Given the description of an element on the screen output the (x, y) to click on. 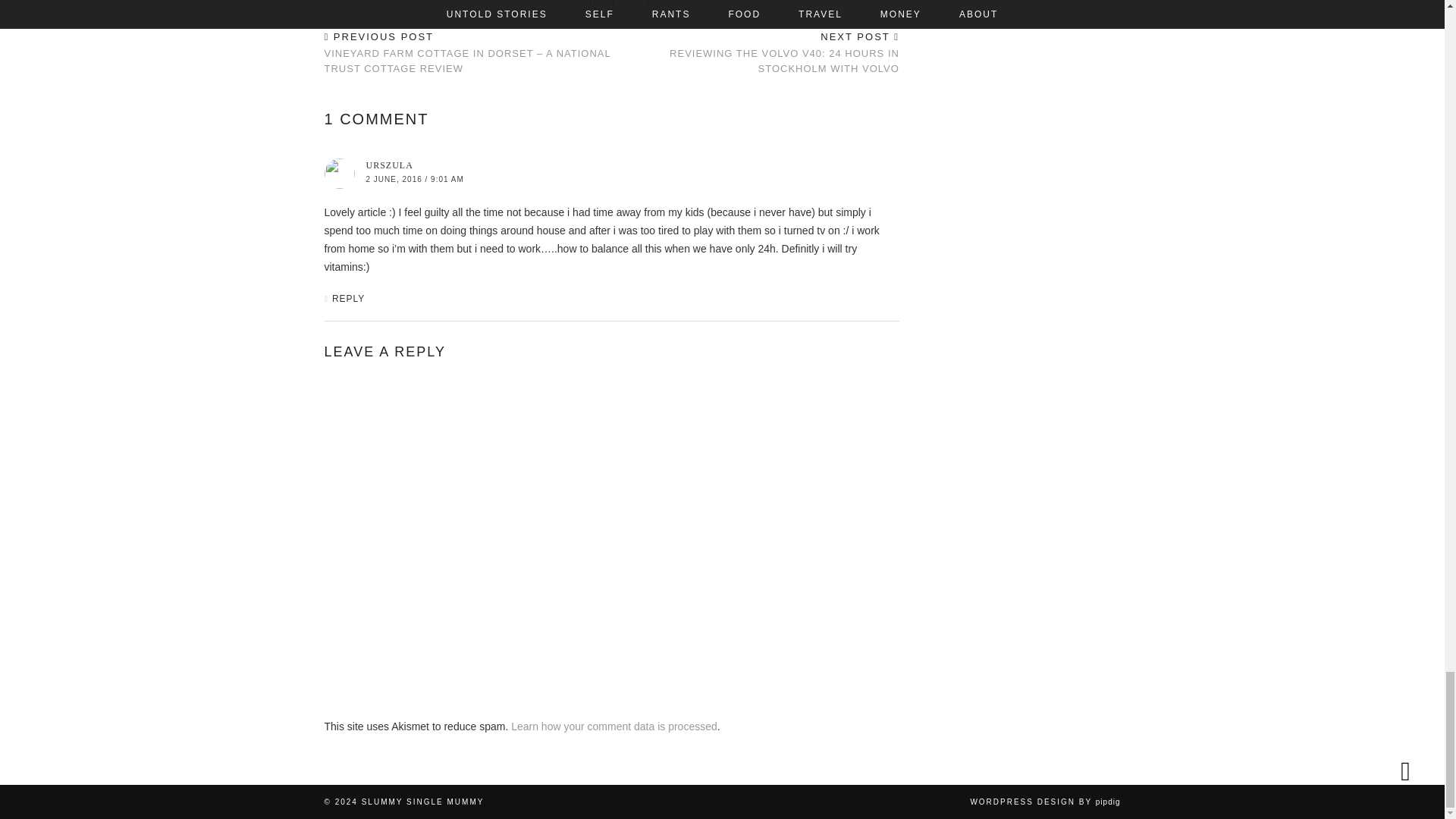
REPLY (348, 298)
Learn how your comment data is processed (614, 726)
URSZULA (388, 164)
